Given the description of an element on the screen output the (x, y) to click on. 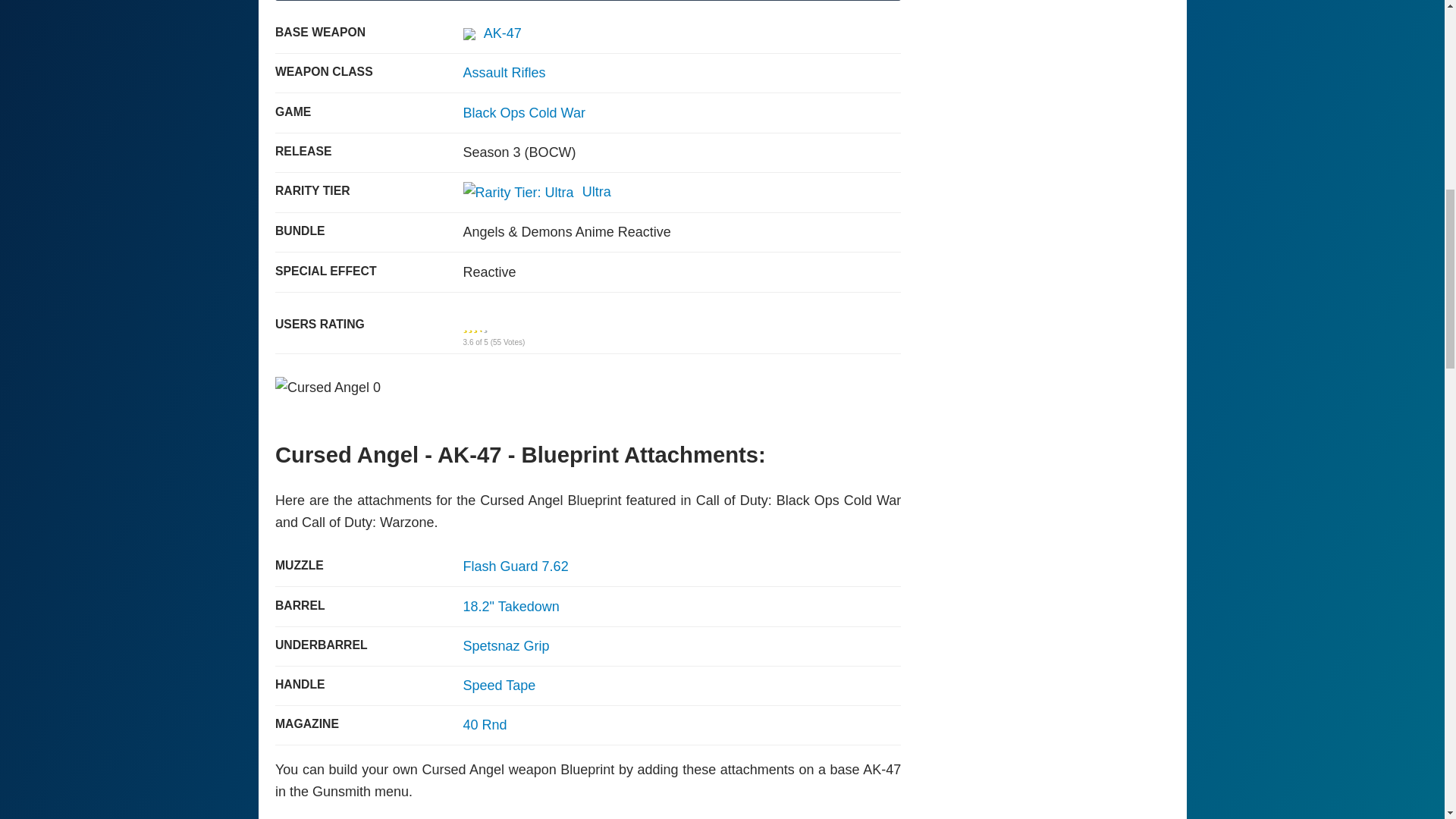
Game: Black Ops Cold War (524, 112)
Rarity Tier: Ultra (518, 192)
Rarity Tier: Ultra (537, 191)
Weapon Class: Assault Rifles (504, 72)
